Given the description of an element on the screen output the (x, y) to click on. 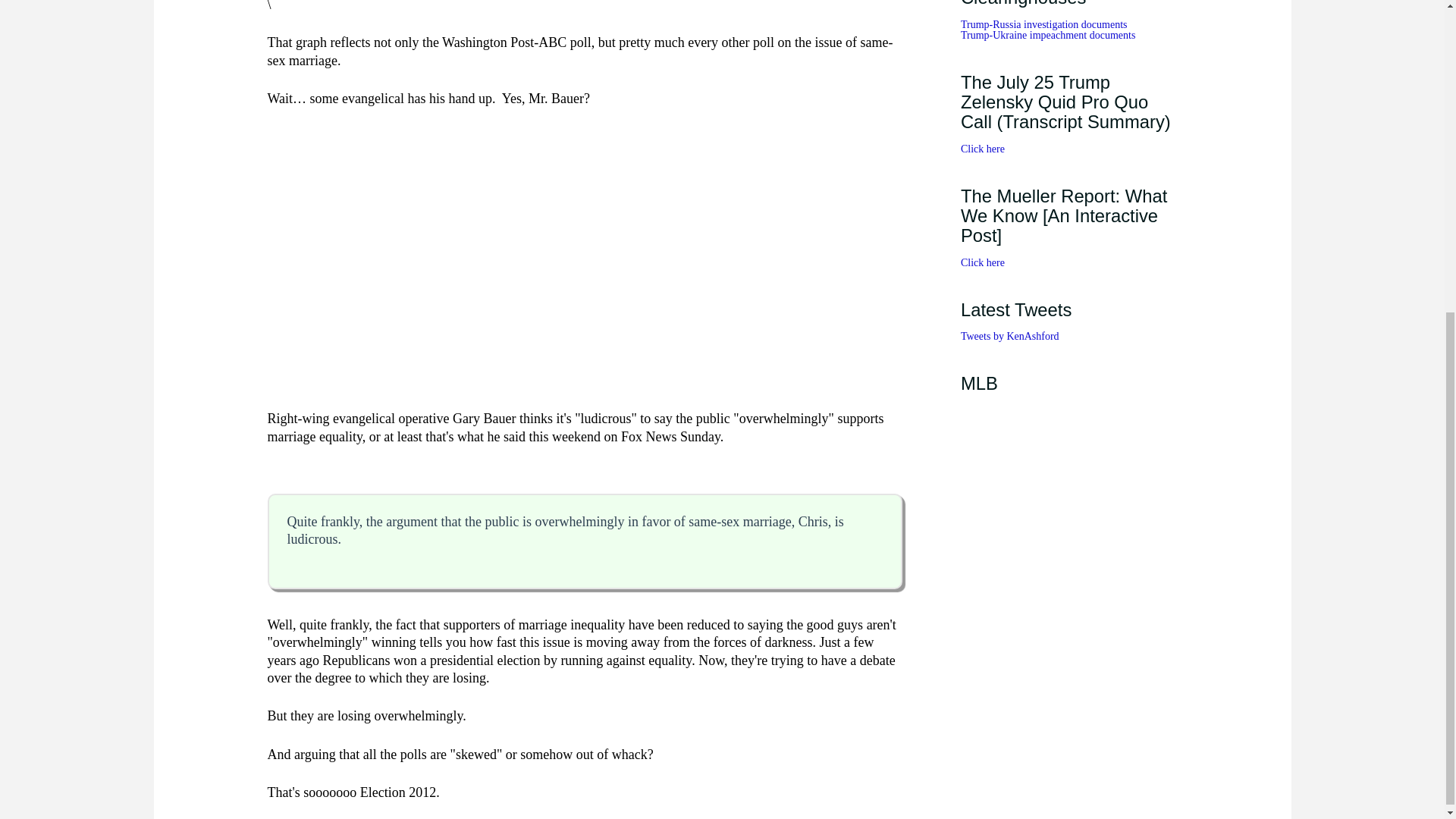
Trump-Ukraine impeachment documents (1047, 34)
Click here (982, 262)
Trump-Russia investigation documents (1043, 24)
Tweets by KenAshford (1009, 336)
Click here (982, 148)
